Given the description of an element on the screen output the (x, y) to click on. 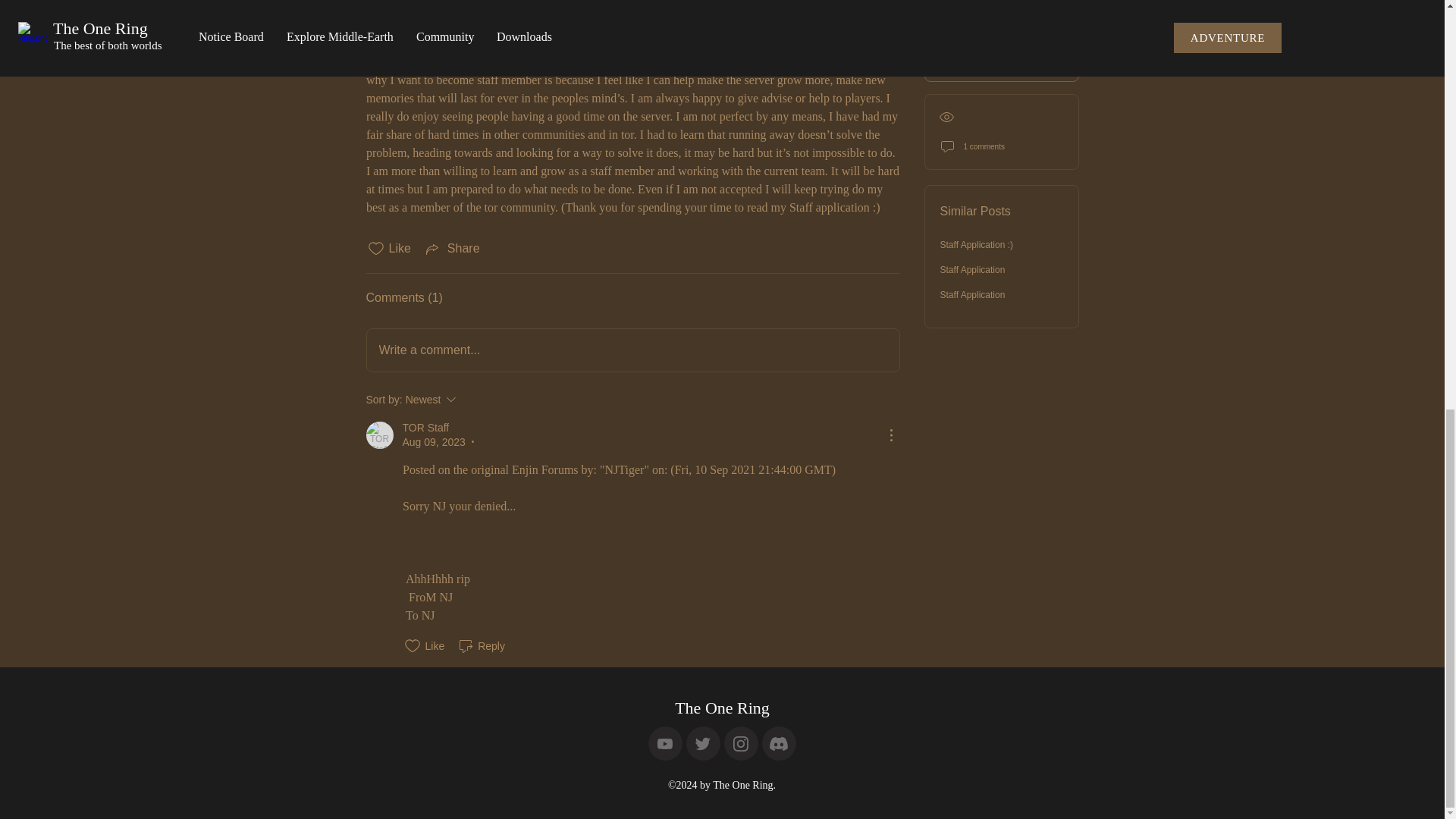
TOR Staff (424, 427)
Reply (481, 646)
Write a comment... (632, 350)
Like (422, 646)
Share (451, 248)
TOR Staff (379, 434)
Like (471, 399)
